Given the description of an element on the screen output the (x, y) to click on. 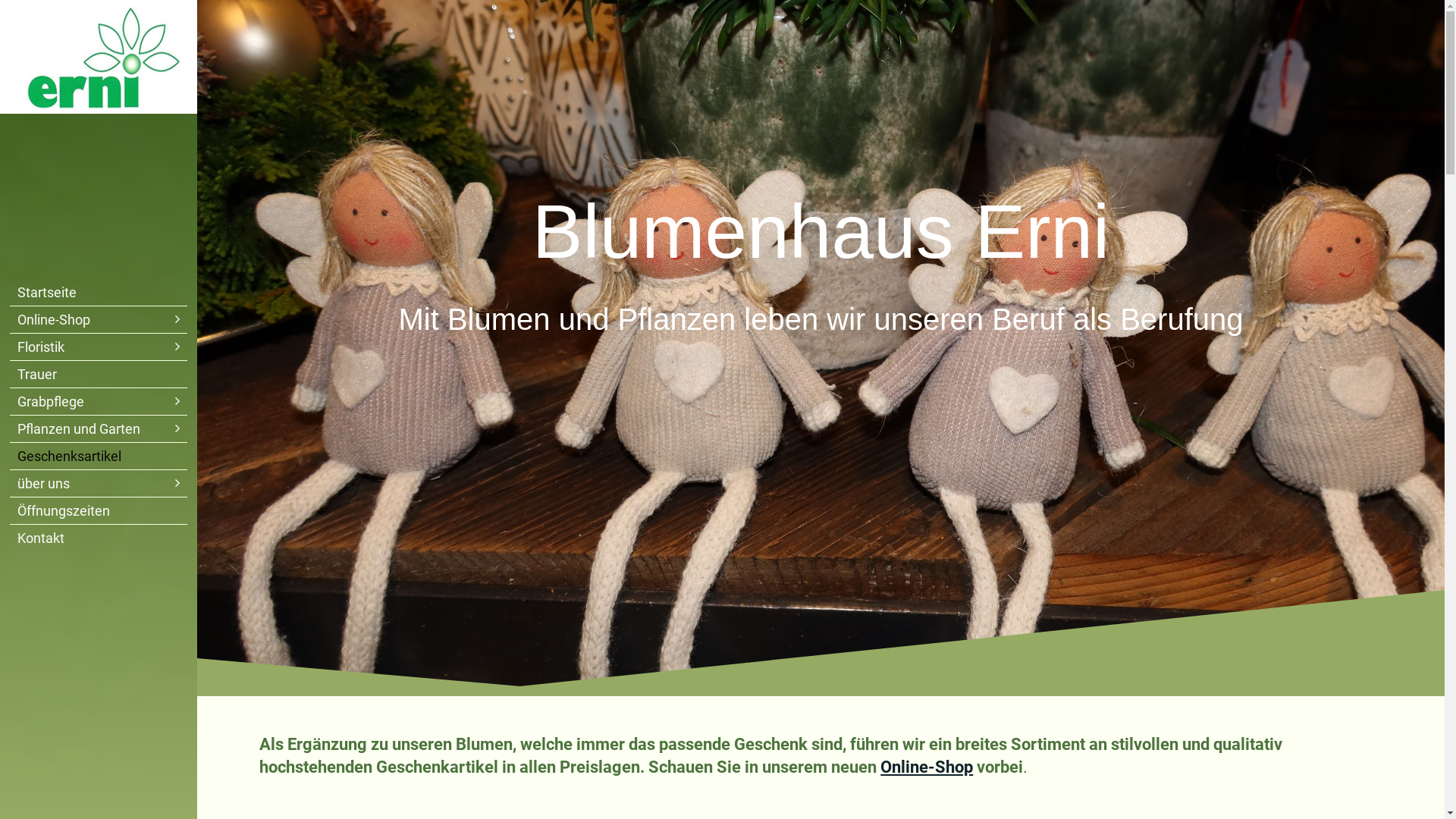
Kontakt Element type: text (98, 537)
Online-Shop Element type: text (926, 766)
Trauer Element type: text (98, 373)
Geschenksartikel Element type: text (98, 455)
Floristik Element type: text (98, 346)
Pflanzen und Garten Element type: text (98, 428)
Startseite Element type: text (98, 292)
Grabpflege Element type: text (98, 401)
Online-Shop Element type: text (98, 319)
